Given the description of an element on the screen output the (x, y) to click on. 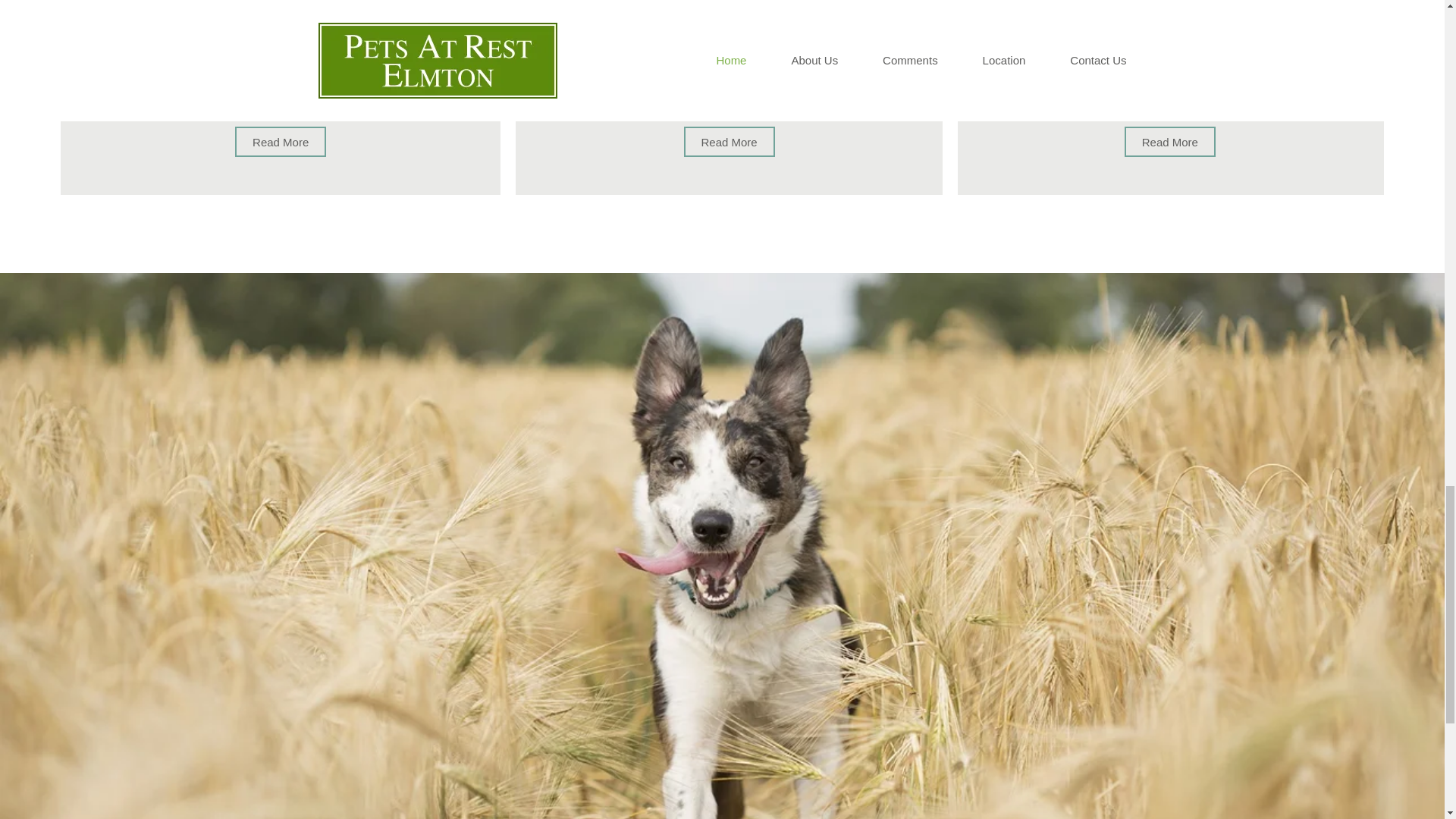
Read More (1169, 141)
Read More (280, 141)
Contact Us (1170, 7)
Ongoing Support (280, 7)
Read More (729, 141)
Comments (728, 7)
